Given the description of an element on the screen output the (x, y) to click on. 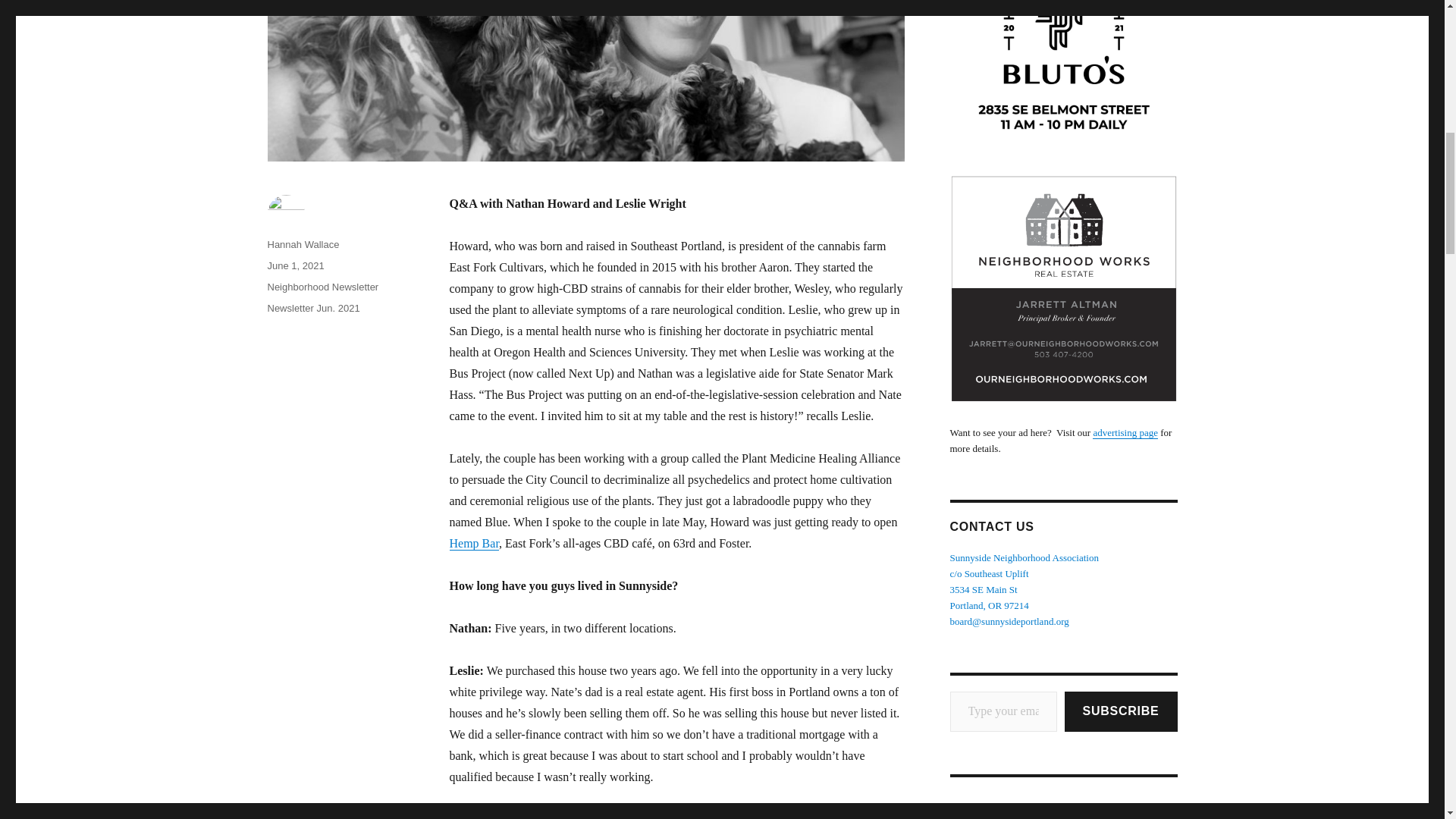
Please fill in this field. (1003, 711)
